Given the description of an element on the screen output the (x, y) to click on. 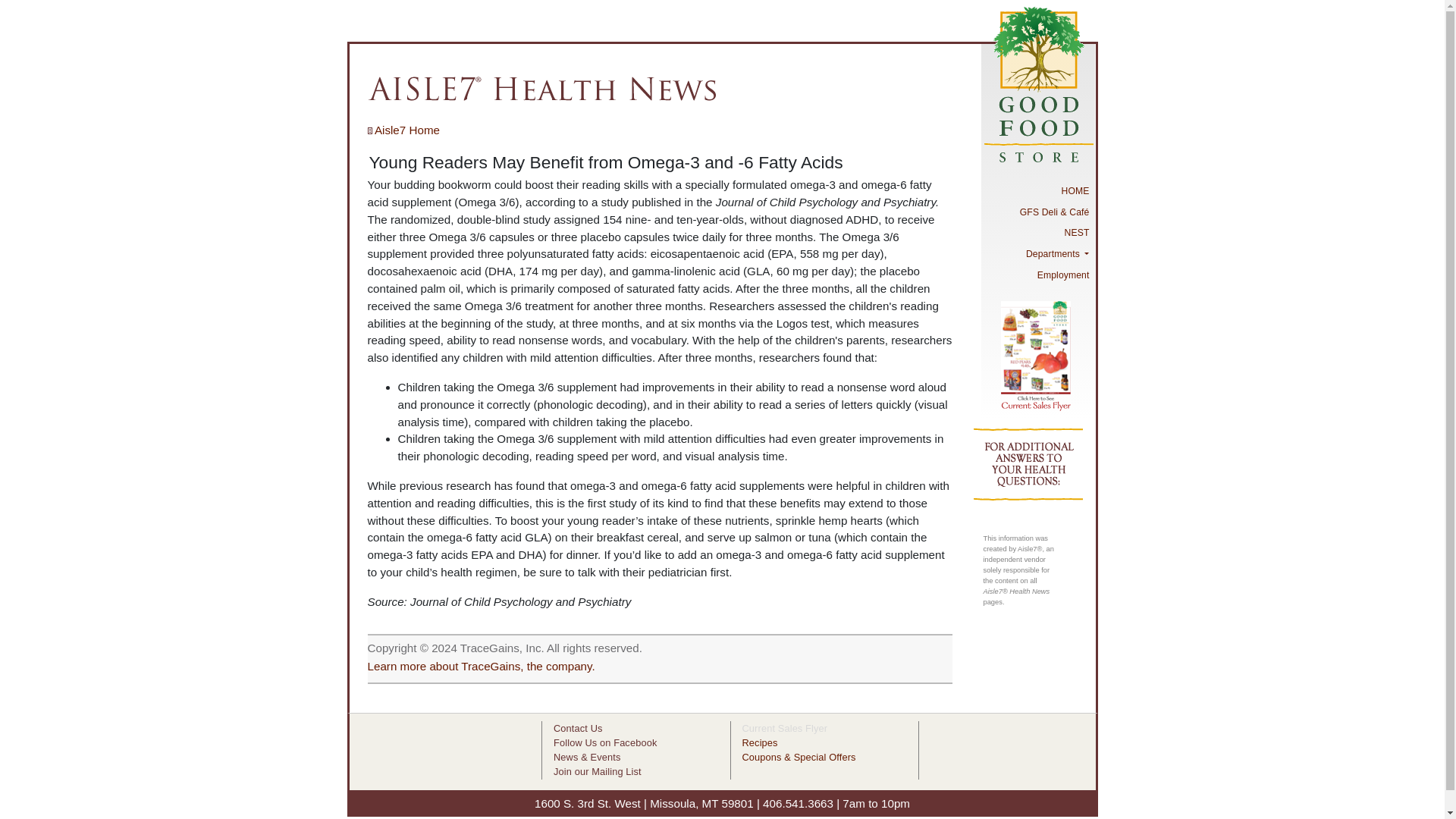
Current Sales Flyer (784, 727)
Employment (1037, 274)
Aisle7 Home (402, 129)
Learn more about TraceGains, the company. (480, 666)
Join Us on Facebook (604, 742)
Join our Mailing List (597, 771)
Contact Us (577, 727)
Departments (1037, 253)
NEST (1037, 233)
Follow Us on Facebook (604, 742)
Recipes (759, 742)
HOME (1037, 190)
